Given the description of an element on the screen output the (x, y) to click on. 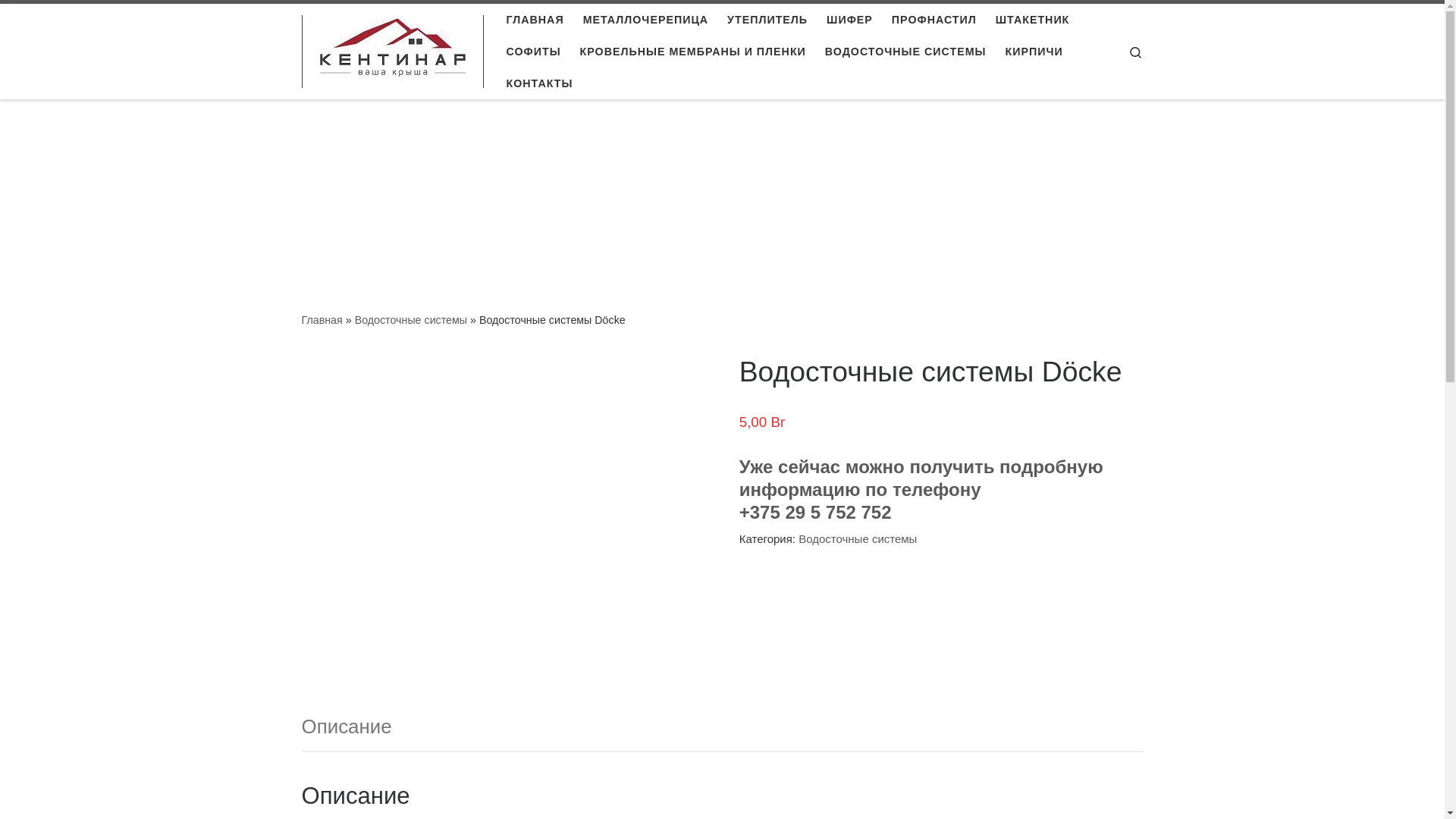
Search Element type: text (1135, 51)
